Given the description of an element on the screen output the (x, y) to click on. 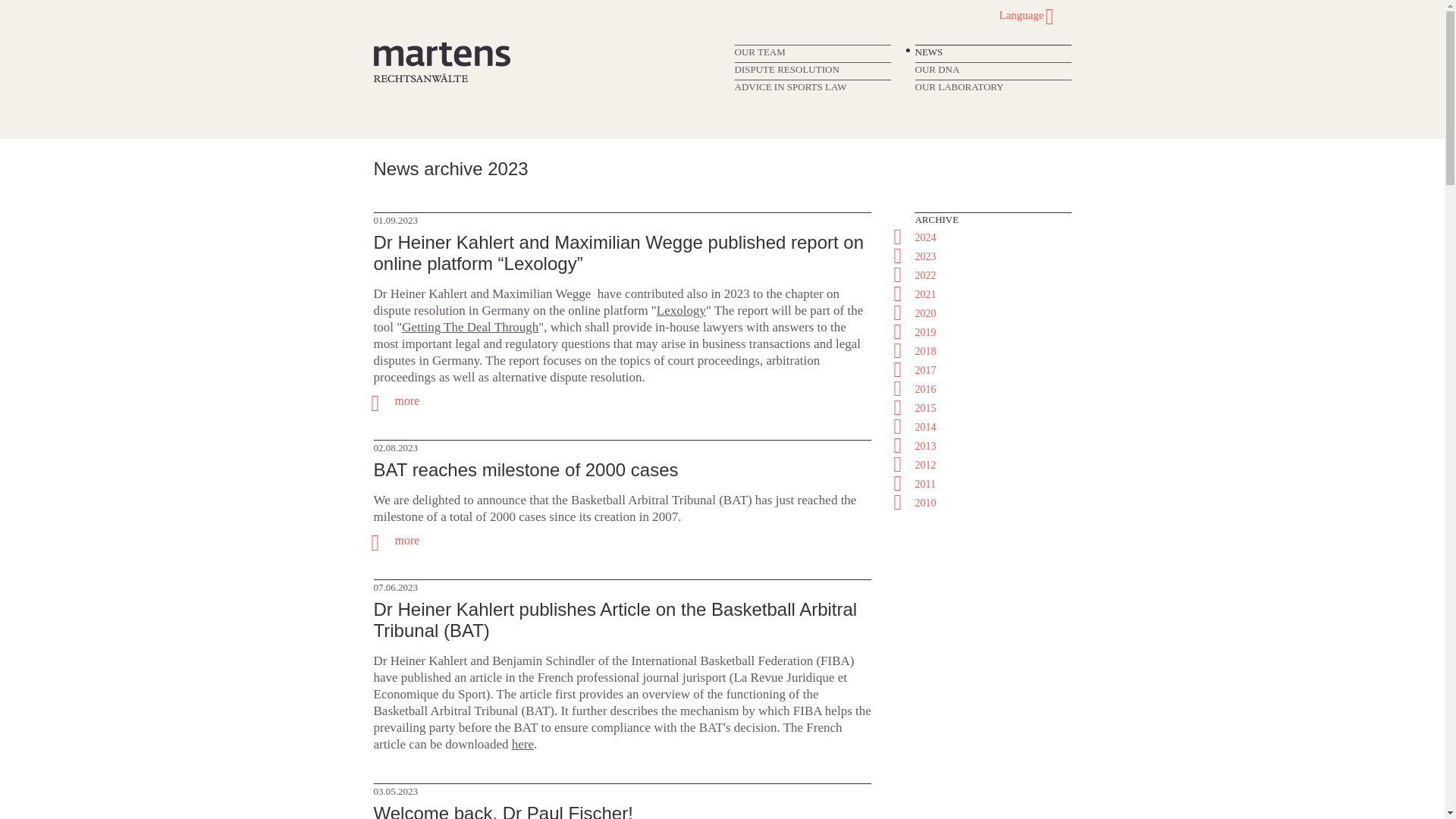
OUR LABORATORY (958, 86)
NEWS (928, 51)
here (523, 744)
ADVICE IN SPORTS LAW (789, 86)
DISPUTE RESOLUTION (785, 69)
Getting The Deal Through (469, 327)
OUR TEAM (758, 51)
Lexology (681, 310)
OUR DNA (936, 69)
